Given the description of an element on the screen output the (x, y) to click on. 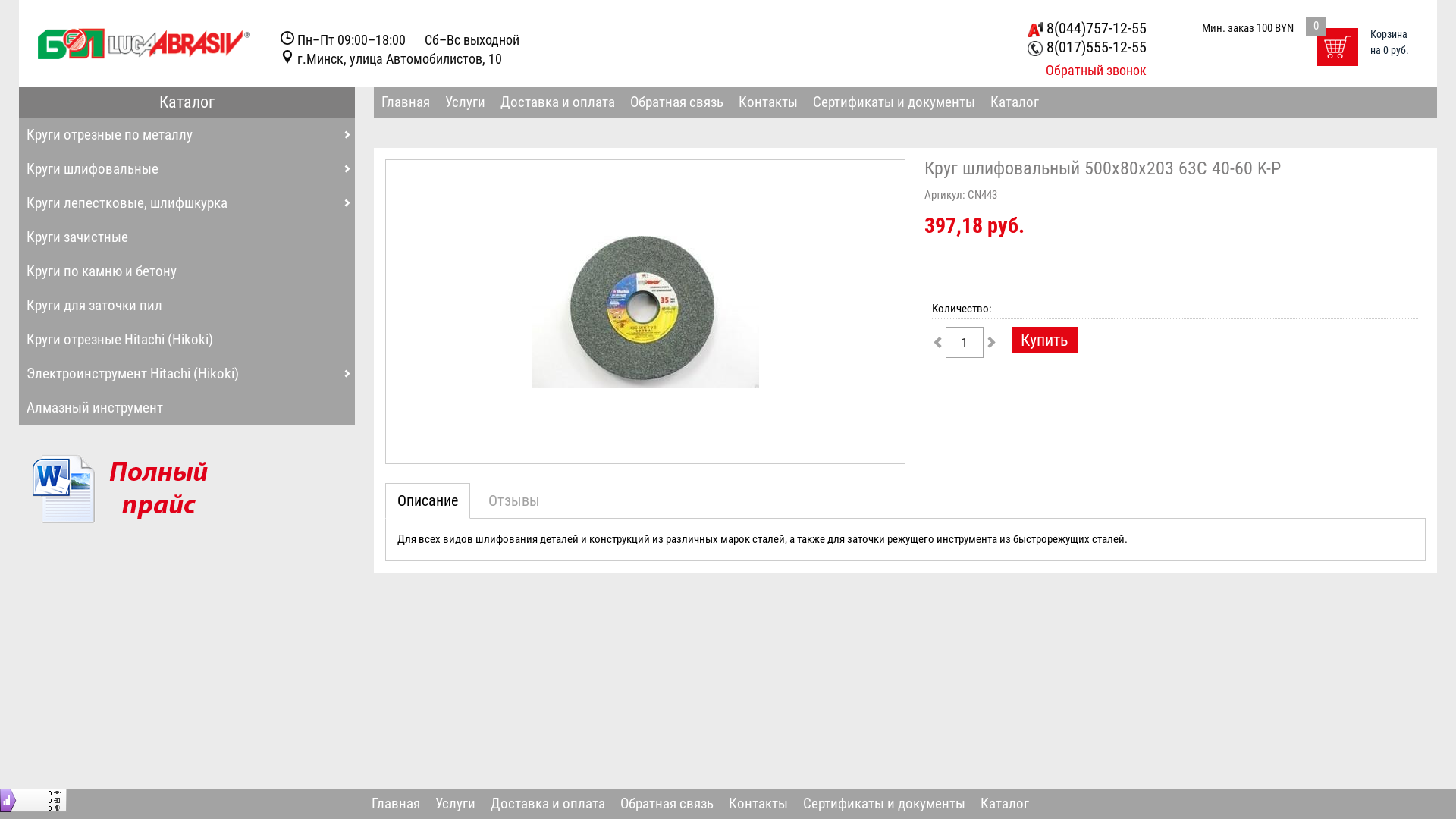
8(044)757-12-55 Element type: text (1086, 27)
A1 Element type: hover (1034, 29)
8(017)555-12-55 Element type: text (1086, 46)
